Given the description of an element on the screen output the (x, y) to click on. 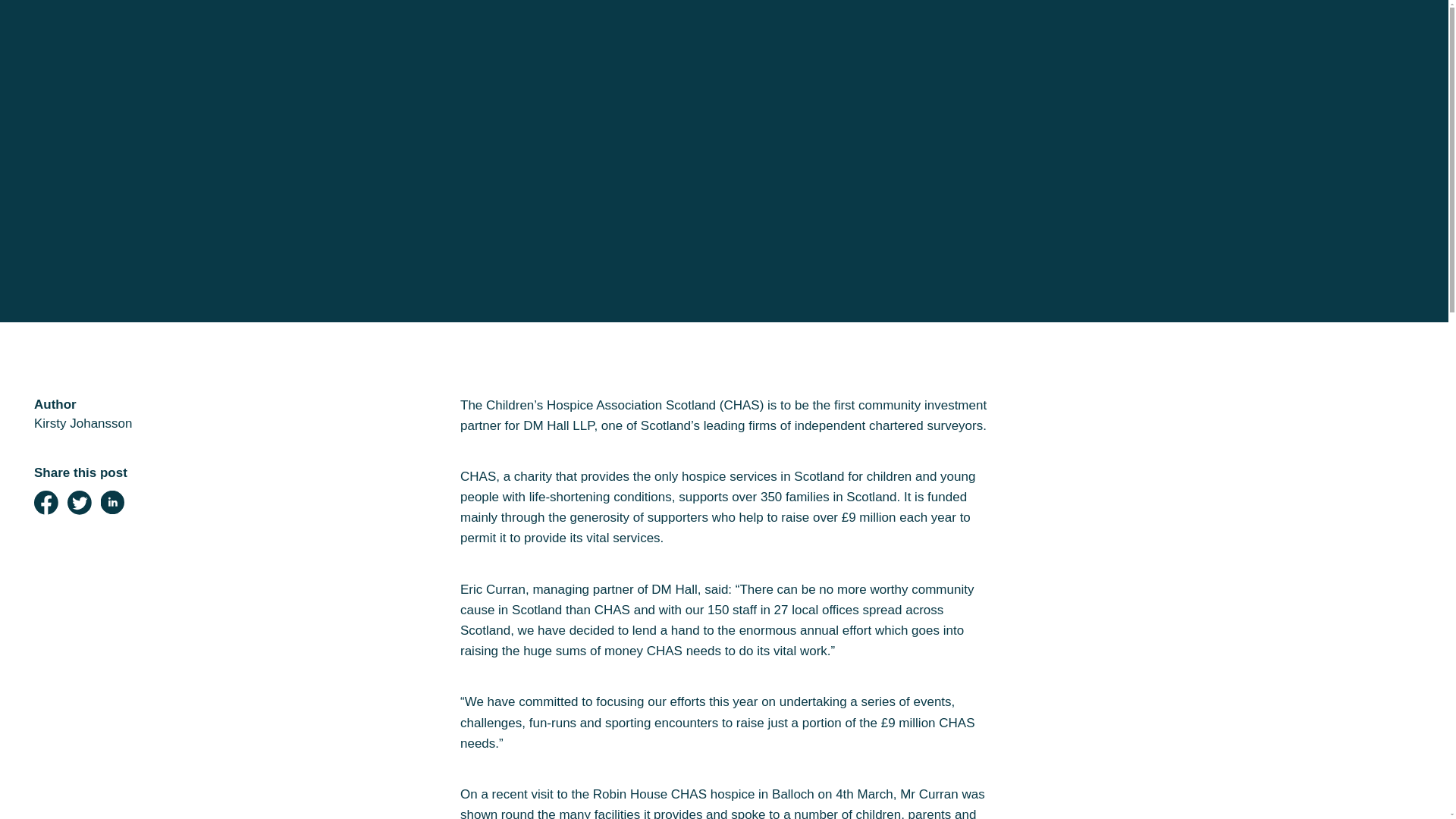
Contact (82, 538)
Rural Services (120, 283)
Building Consultancy (155, 326)
Property Management (162, 368)
Commercial (105, 198)
About (71, 411)
Make a Payment (133, 453)
Residential Property Services (202, 156)
